Given the description of an element on the screen output the (x, y) to click on. 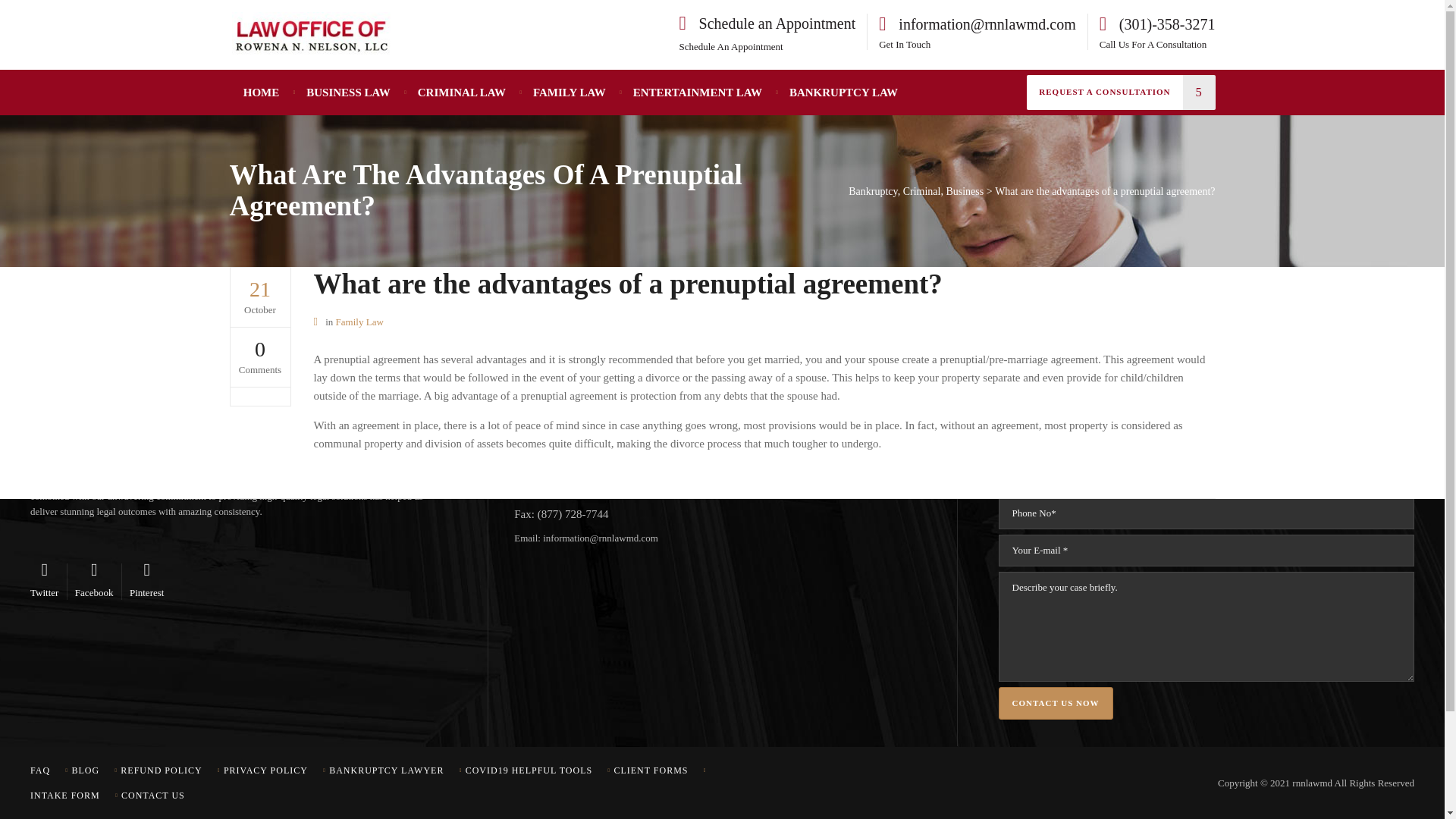
Schedule an Appointment (767, 29)
FAMILY LAW (569, 92)
BANKRUPTCY LAW (843, 92)
Contact us now (1055, 703)
BUSINESS LAW (347, 92)
HOME (262, 92)
ENTERTAINMENT LAW (698, 92)
CRIMINAL LAW (461, 92)
